Given the description of an element on the screen output the (x, y) to click on. 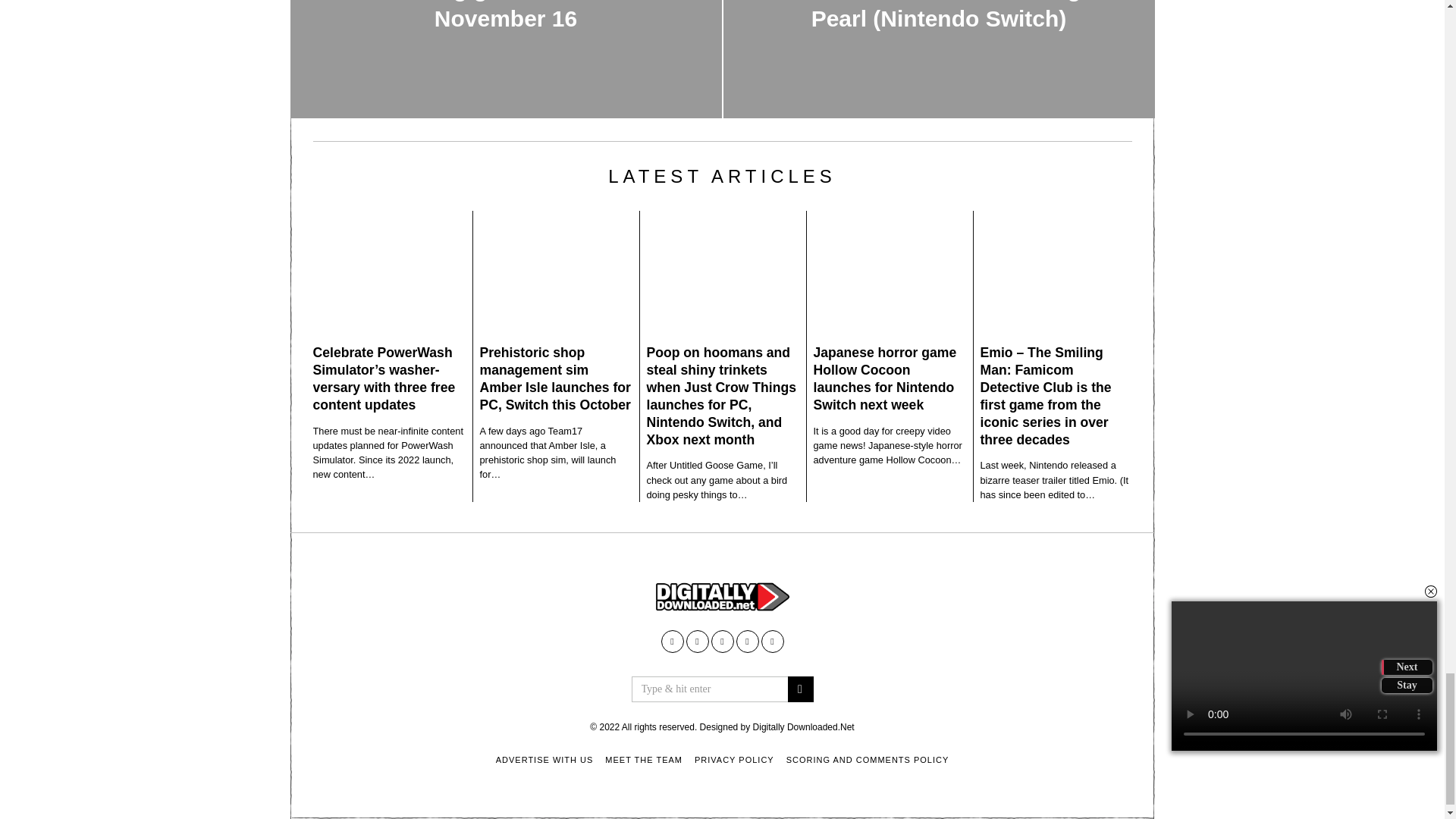
Go (799, 688)
Discord (772, 640)
itch.io (722, 640)
YouTube (696, 640)
Facebook (672, 640)
Patreon (746, 640)
